Given the description of an element on the screen output the (x, y) to click on. 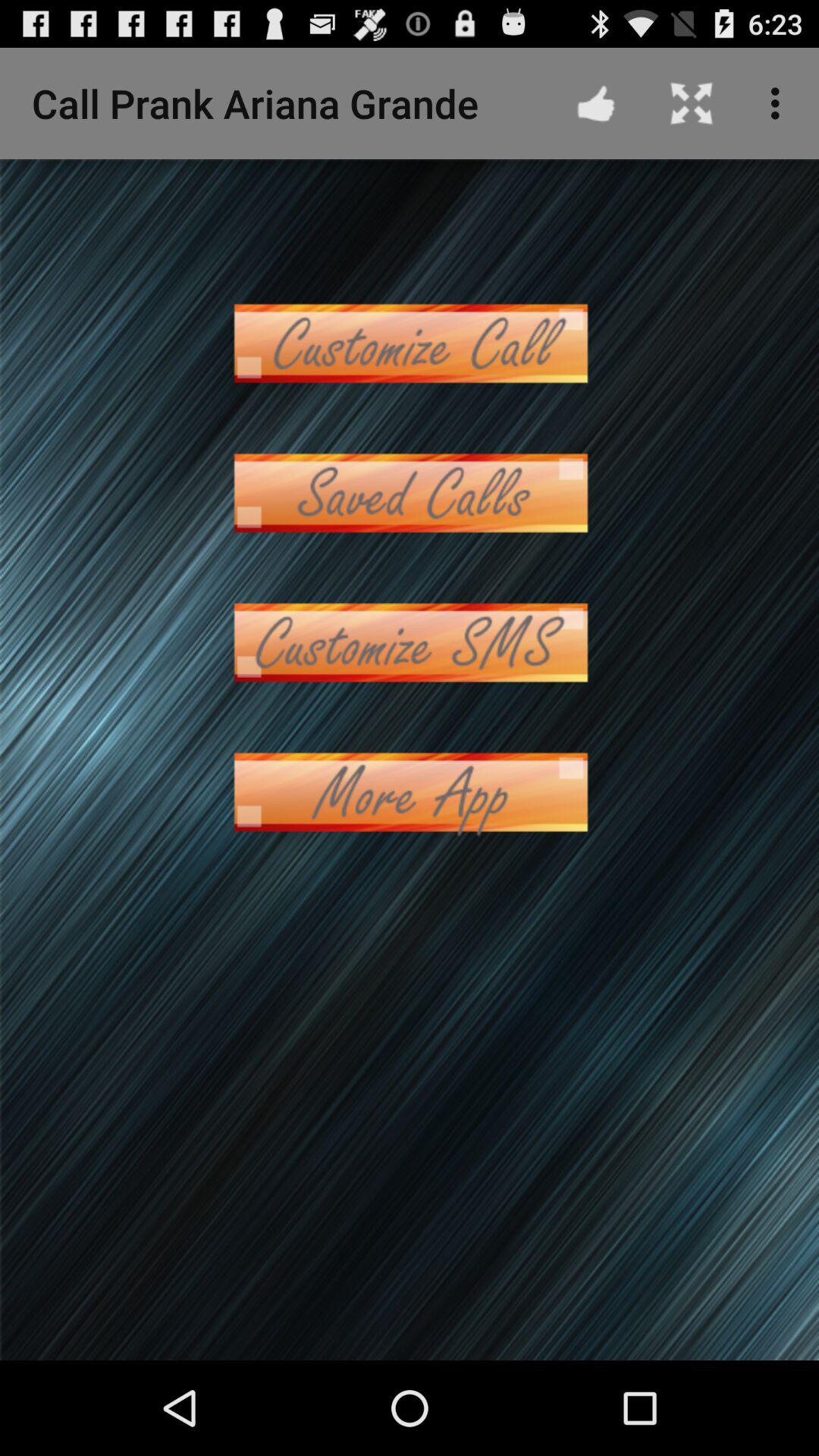
turn off the app to the right of the call prank ariana (595, 103)
